Given the description of an element on the screen output the (x, y) to click on. 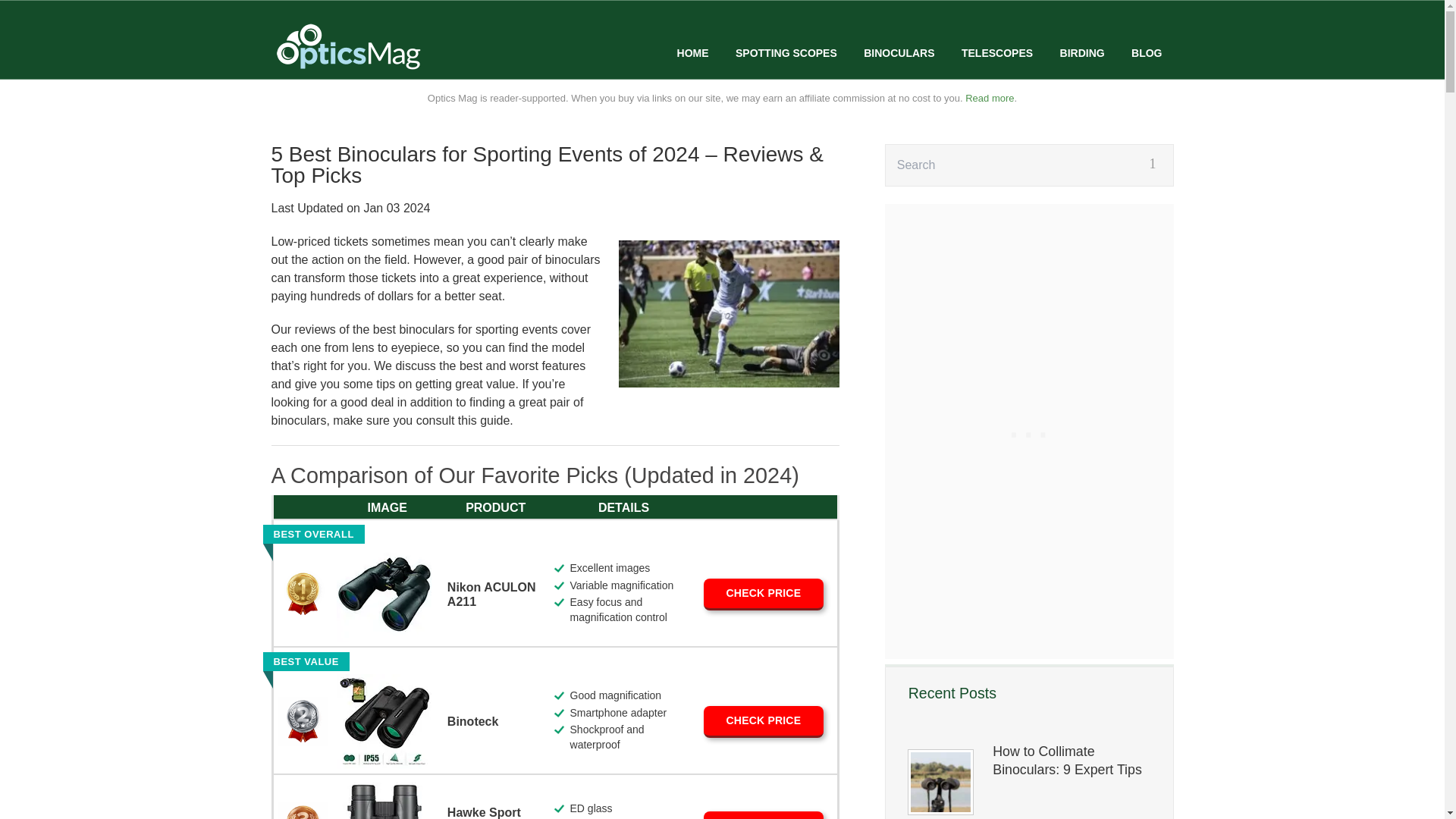
BLOG (1146, 53)
CHECK PRICE (763, 721)
CHECK PRICE (763, 594)
BINOCULARS (898, 53)
SPOTTING SCOPES (786, 53)
Read more (989, 98)
BIRDING (1082, 53)
TELESCOPES (996, 53)
HOME (693, 53)
How to Collimate Binoculars: 9 Expert Tips (1071, 760)
CHECK PRICE (763, 815)
